Given the description of an element on the screen output the (x, y) to click on. 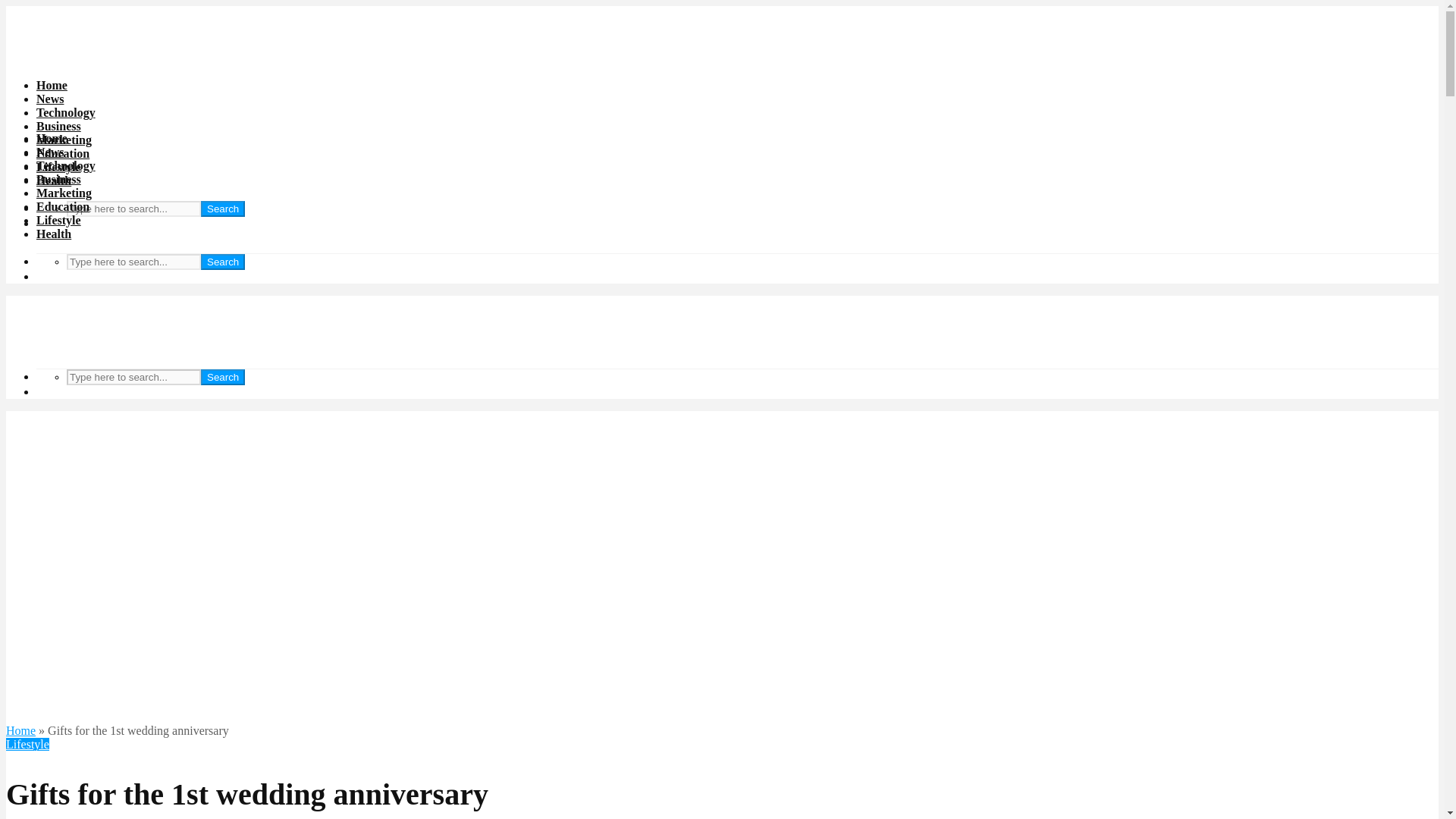
Education (62, 205)
Lifestyle (58, 166)
Home (19, 730)
Education (62, 153)
Search (222, 208)
News (50, 98)
Lifestyle (27, 744)
Business (58, 178)
Search (222, 261)
Lifestyle (58, 219)
